Given the description of an element on the screen output the (x, y) to click on. 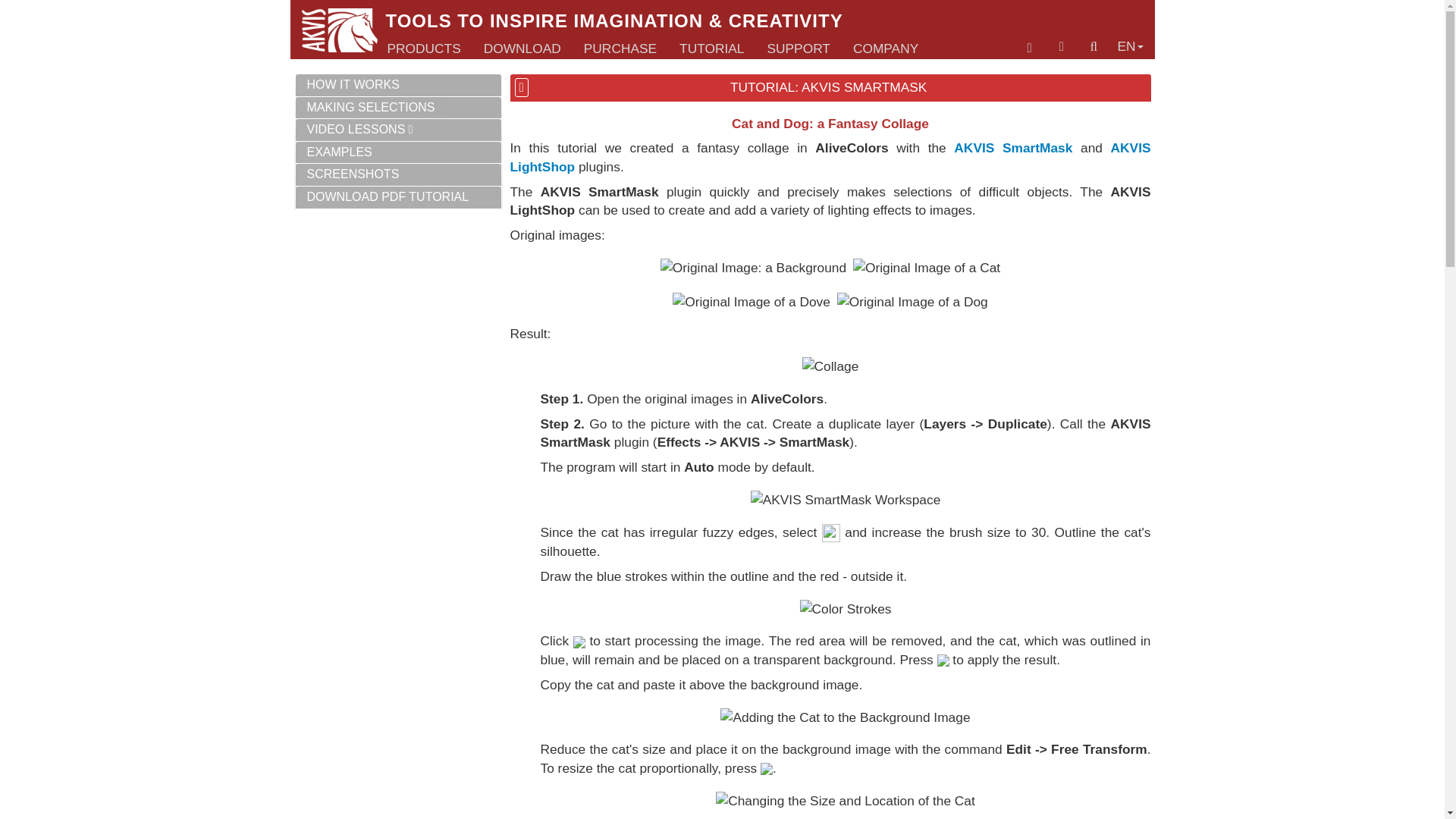
Adding the Cat to the Background Image (844, 717)
Original Image of a Cat (926, 267)
Collage (830, 366)
Shopping Cart (1030, 47)
Original Image of a Dog (912, 302)
Original Image: a Background (753, 267)
Search (1093, 46)
EN (1129, 46)
PRODUCTS (423, 48)
AKVIS SmartMask Workspace (845, 499)
